Given the description of an element on the screen output the (x, y) to click on. 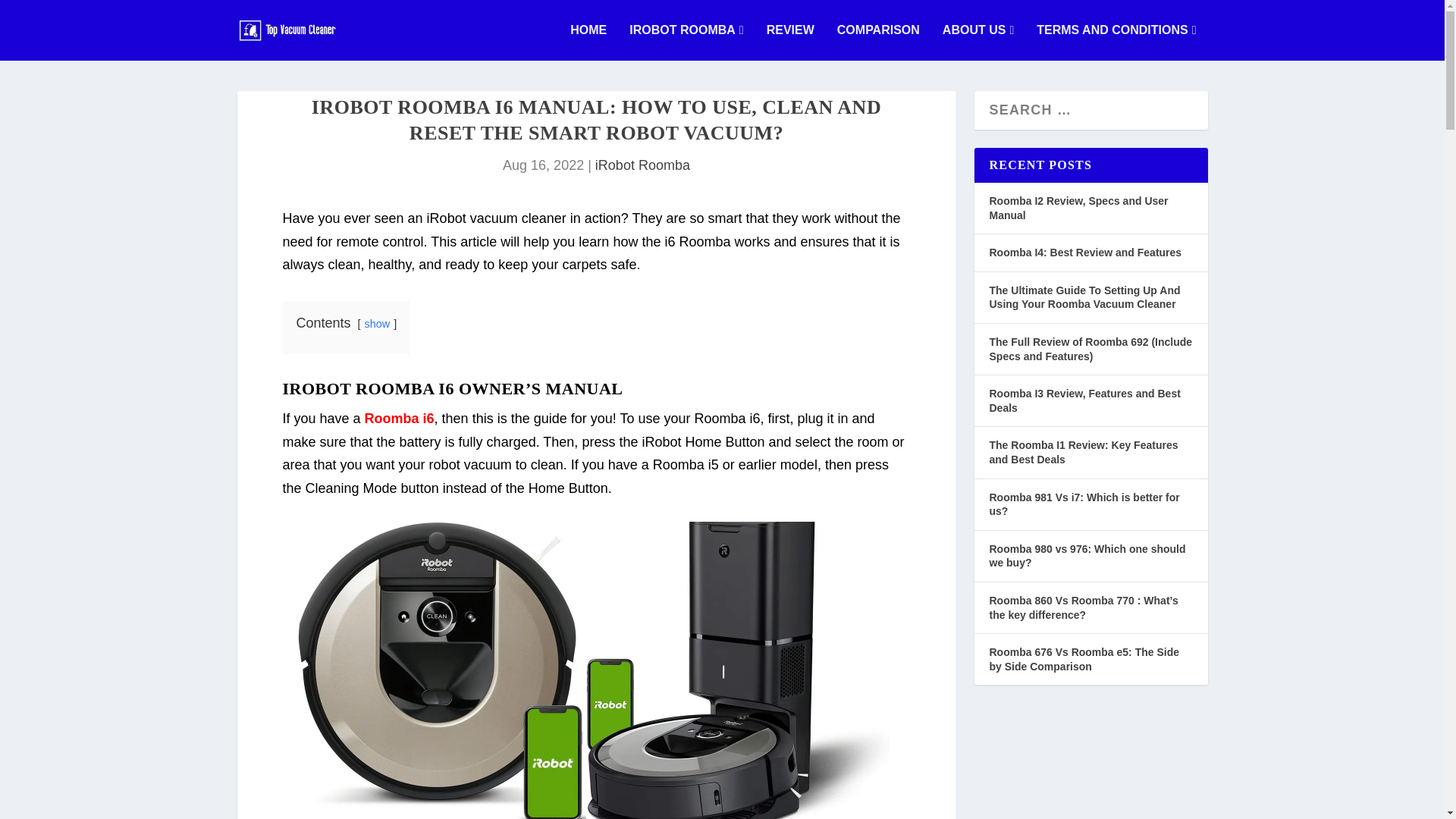
REVIEW (790, 42)
HOME (588, 42)
TERMS AND CONDITIONS (1115, 42)
COMPARISON (878, 42)
ABOUT US (977, 42)
Roomba i6 (399, 418)
show (377, 323)
IROBOT ROOMBA (685, 42)
iRobot Roomba (642, 165)
